Given the description of an element on the screen output the (x, y) to click on. 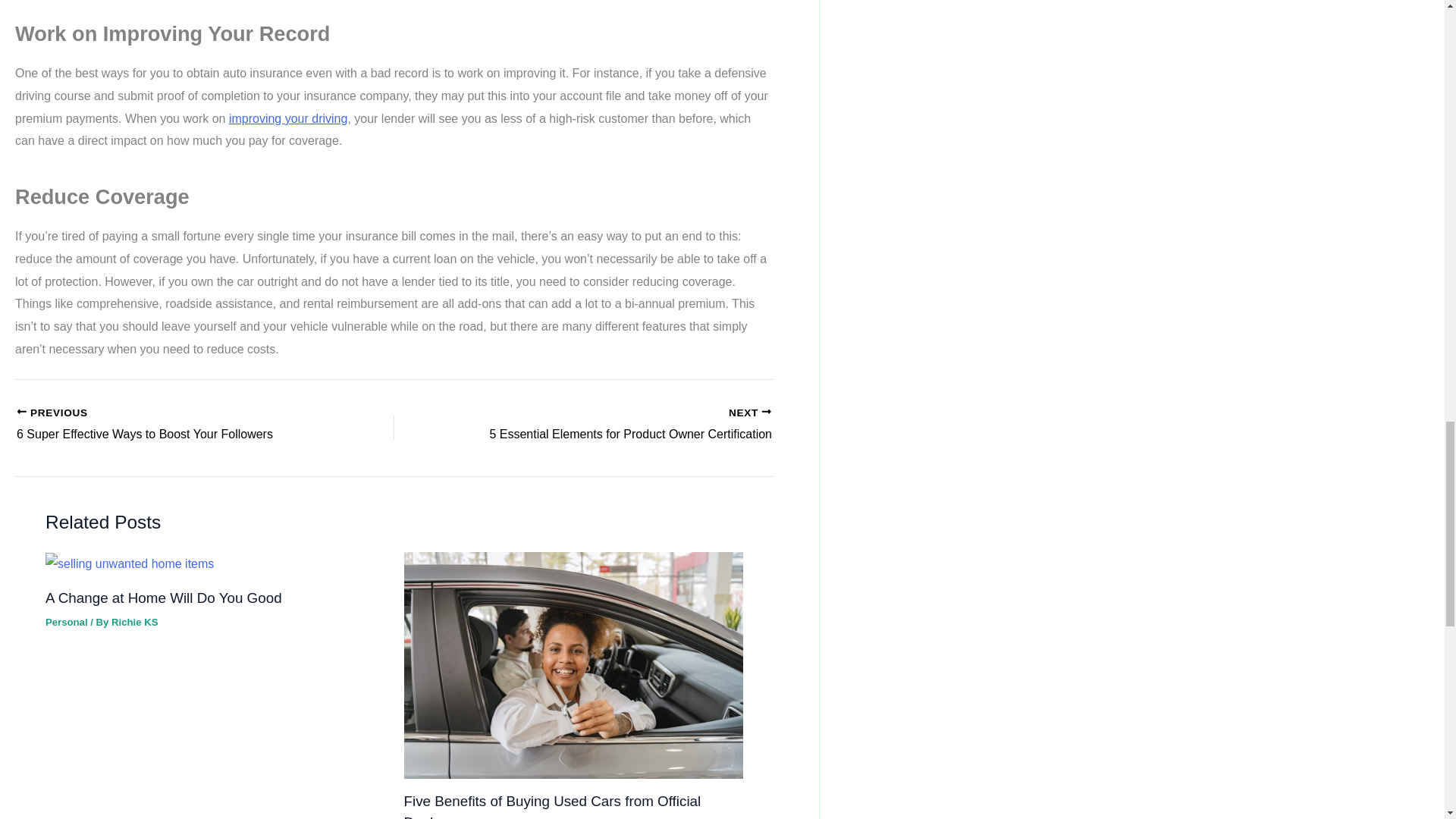
6 Super Effective Ways to Boost Your Followers (168, 425)
View all posts by Richie KS (134, 622)
5 Essential Elements for Product Owner Certification (619, 425)
improving your driving (168, 425)
Personal (619, 425)
A Change at Home Will Do You Good (287, 118)
